Given the description of an element on the screen output the (x, y) to click on. 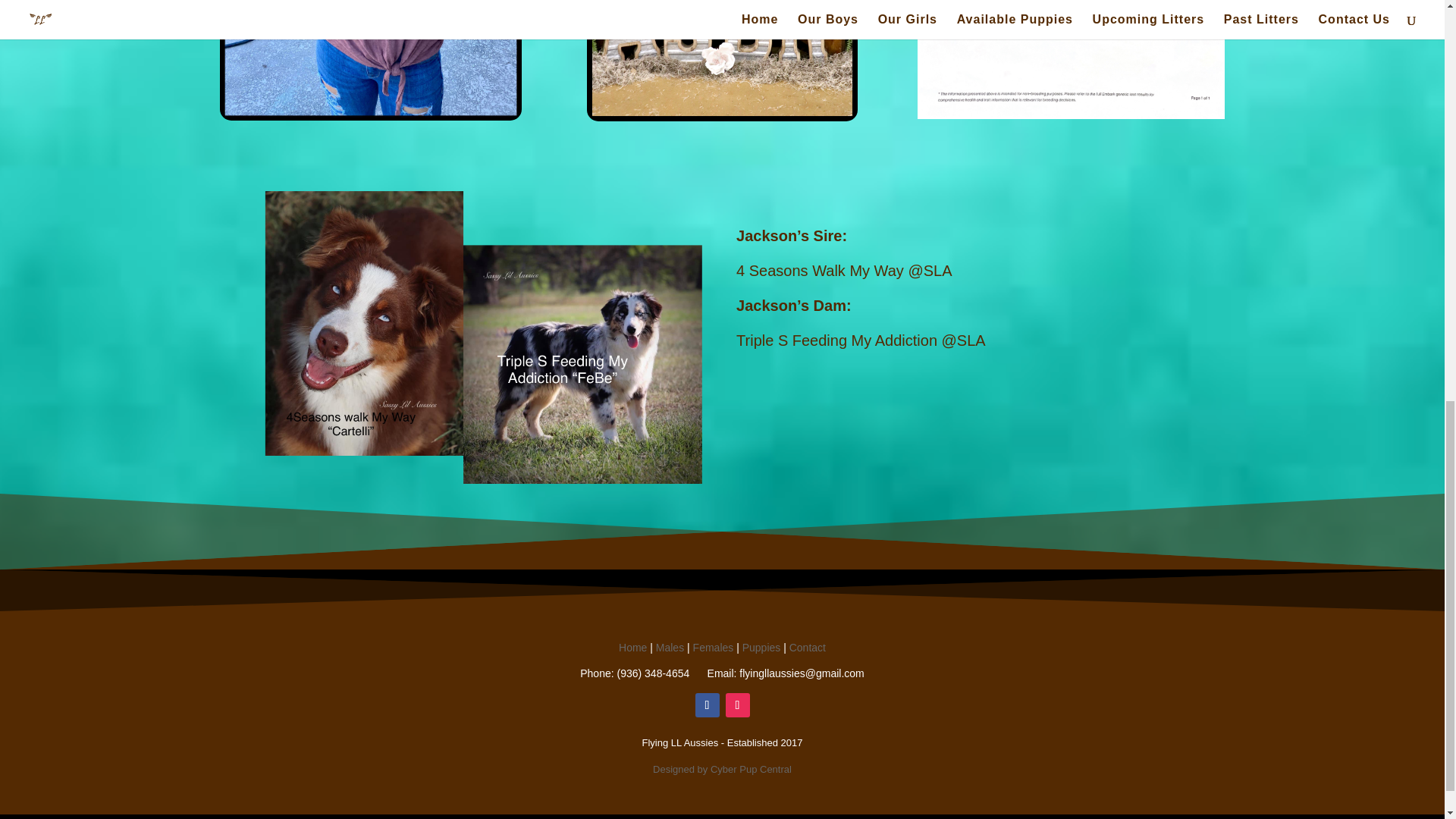
Contact (807, 647)
Home (632, 647)
Our Girls (713, 647)
Home (632, 647)
Follow on Facebook (706, 704)
Our Boys (670, 647)
Follow on Instagram (737, 704)
Males (670, 647)
Jackson1a (370, 60)
Designed by Cyber Pup Central (722, 768)
Jackson1c (721, 60)
Puppies (761, 647)
Females (713, 647)
